Given the description of an element on the screen output the (x, y) to click on. 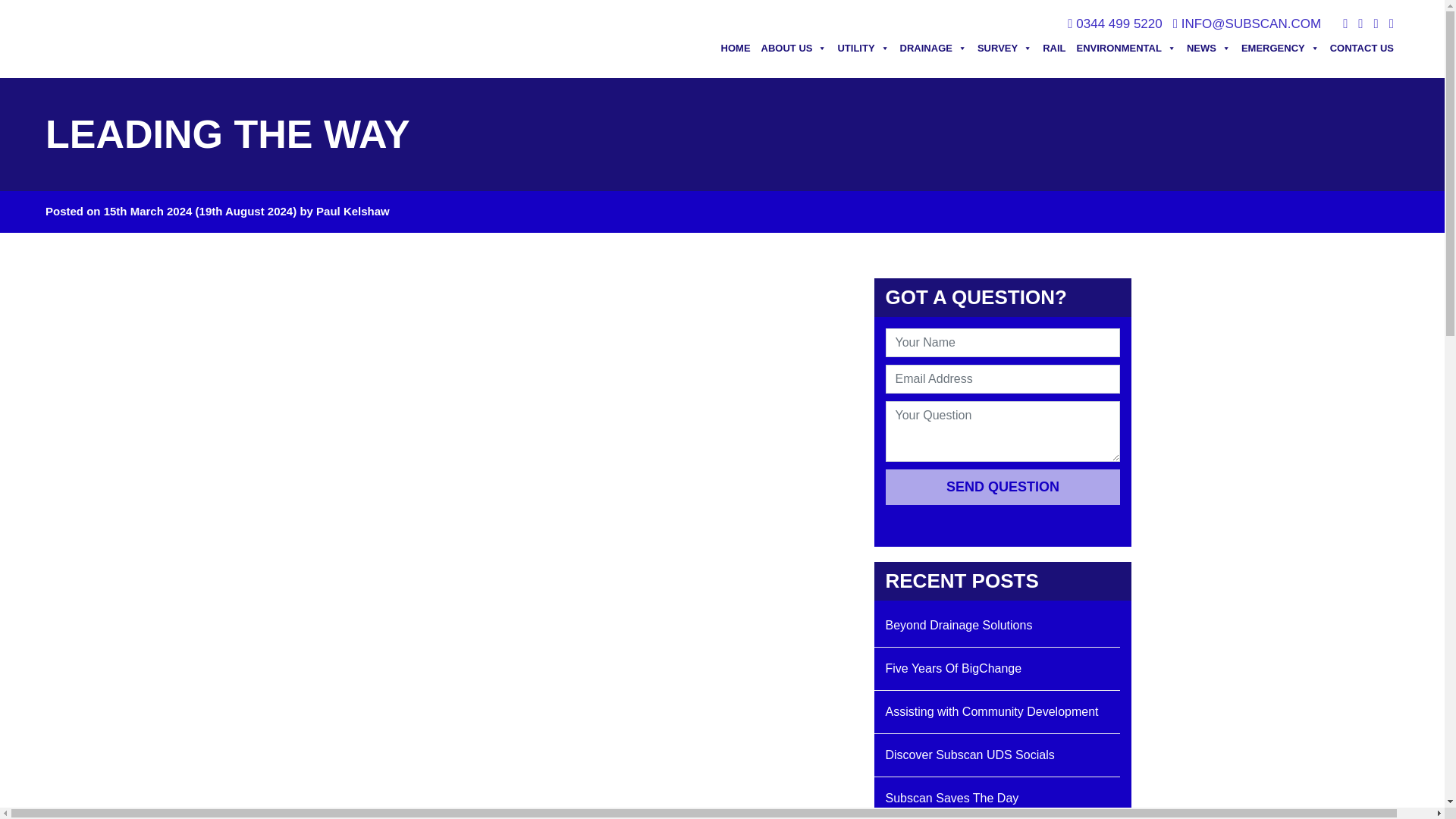
Send Question (1003, 487)
HOME (735, 48)
0344 499 5220 (1118, 23)
ABOUT US (793, 48)
